Given the description of an element on the screen output the (x, y) to click on. 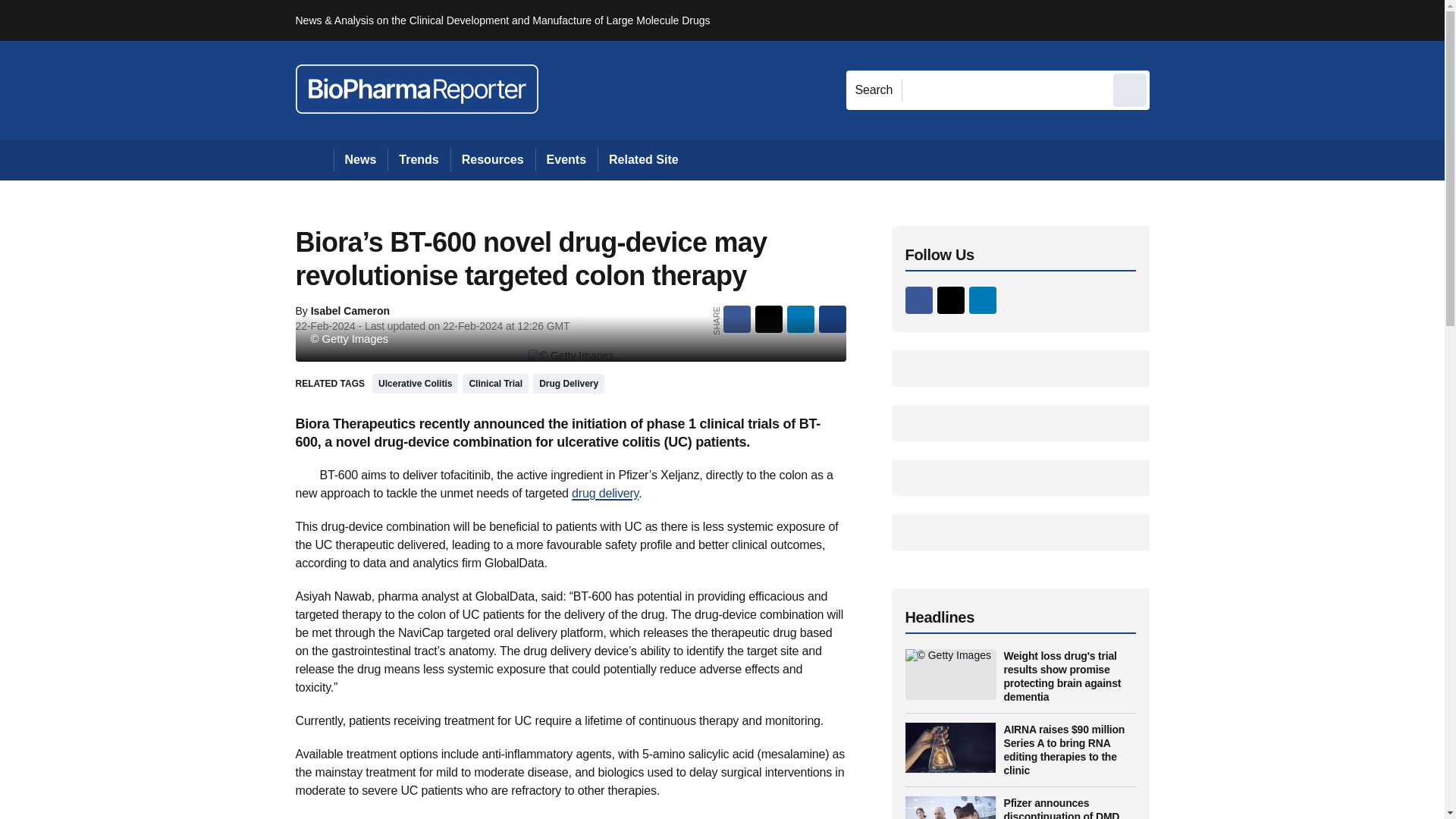
Sign out (1174, 20)
Send (1129, 90)
Home (314, 159)
BioPharmaReporter (416, 89)
Send (1129, 89)
Trends (418, 159)
News (360, 159)
Sign in (1171, 20)
Resources (492, 159)
Home (313, 159)
REGISTER (1250, 20)
My account (1256, 20)
